Given the description of an element on the screen output the (x, y) to click on. 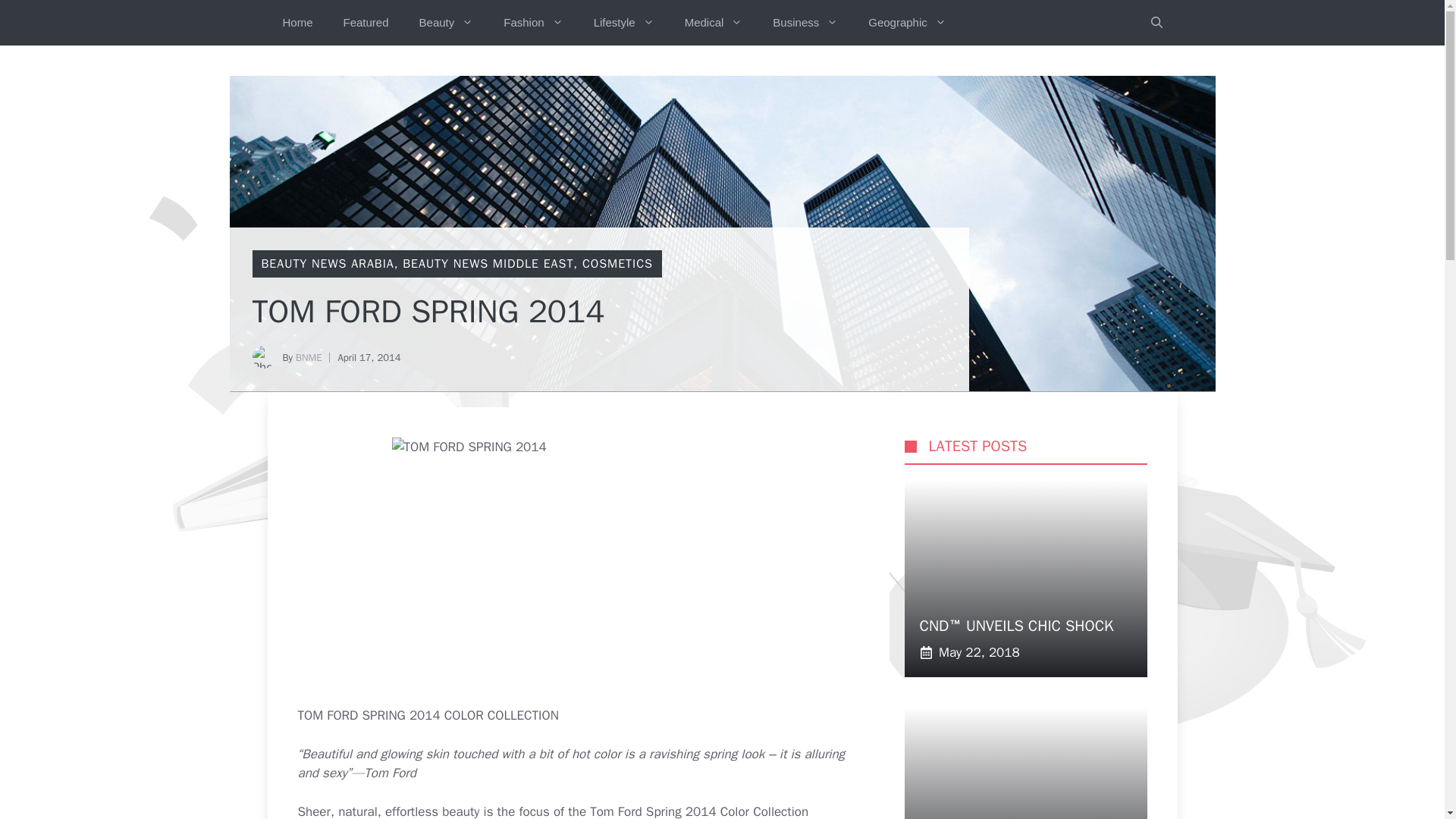
Fashion (532, 22)
Home (296, 22)
Featured (366, 22)
Lifestyle (623, 22)
Beauty (446, 22)
